Given the description of an element on the screen output the (x, y) to click on. 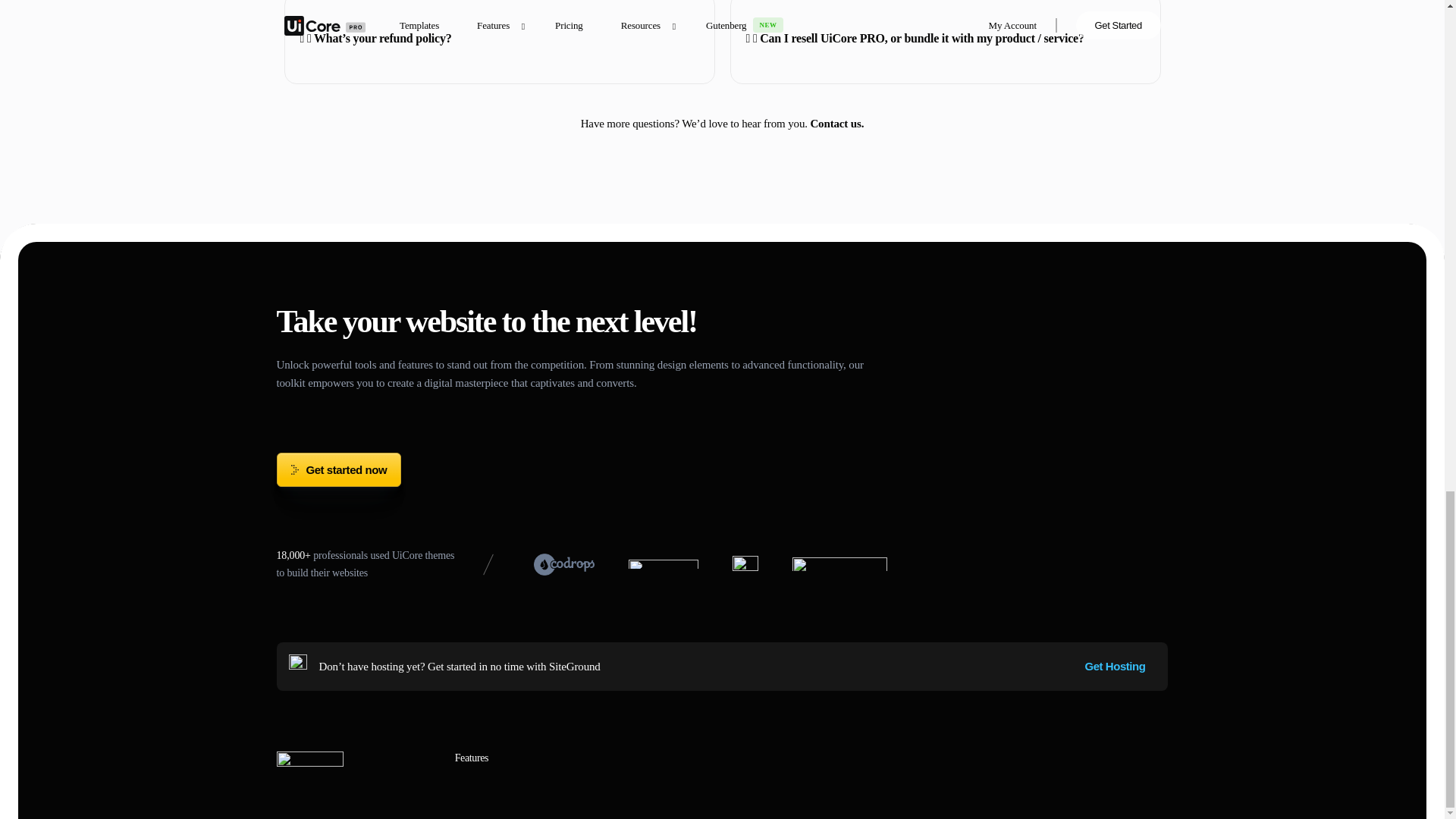
Get started now (338, 469)
Get Hosting (1114, 665)
Contact us. (836, 123)
